Given the description of an element on the screen output the (x, y) to click on. 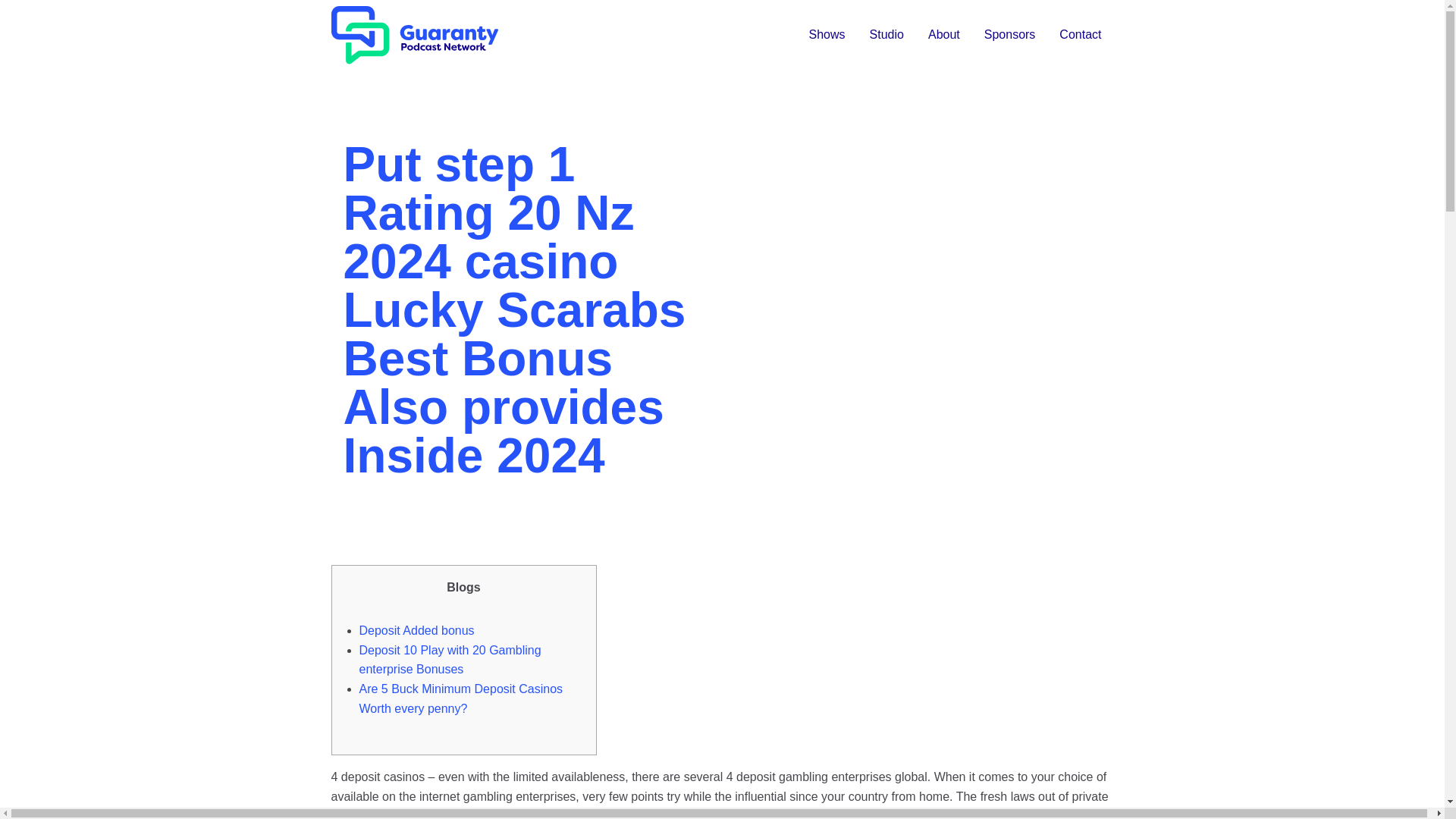
Deposit Added bonus (416, 630)
Studio (886, 34)
Are 5 Buck Minimum Deposit Casinos Worth every penny? (461, 698)
Shows (826, 34)
About (943, 34)
Deposit 10 Play with 20 Gambling enterprise Bonuses (450, 659)
Sponsors (1010, 34)
Contact (1079, 34)
